Given the description of an element on the screen output the (x, y) to click on. 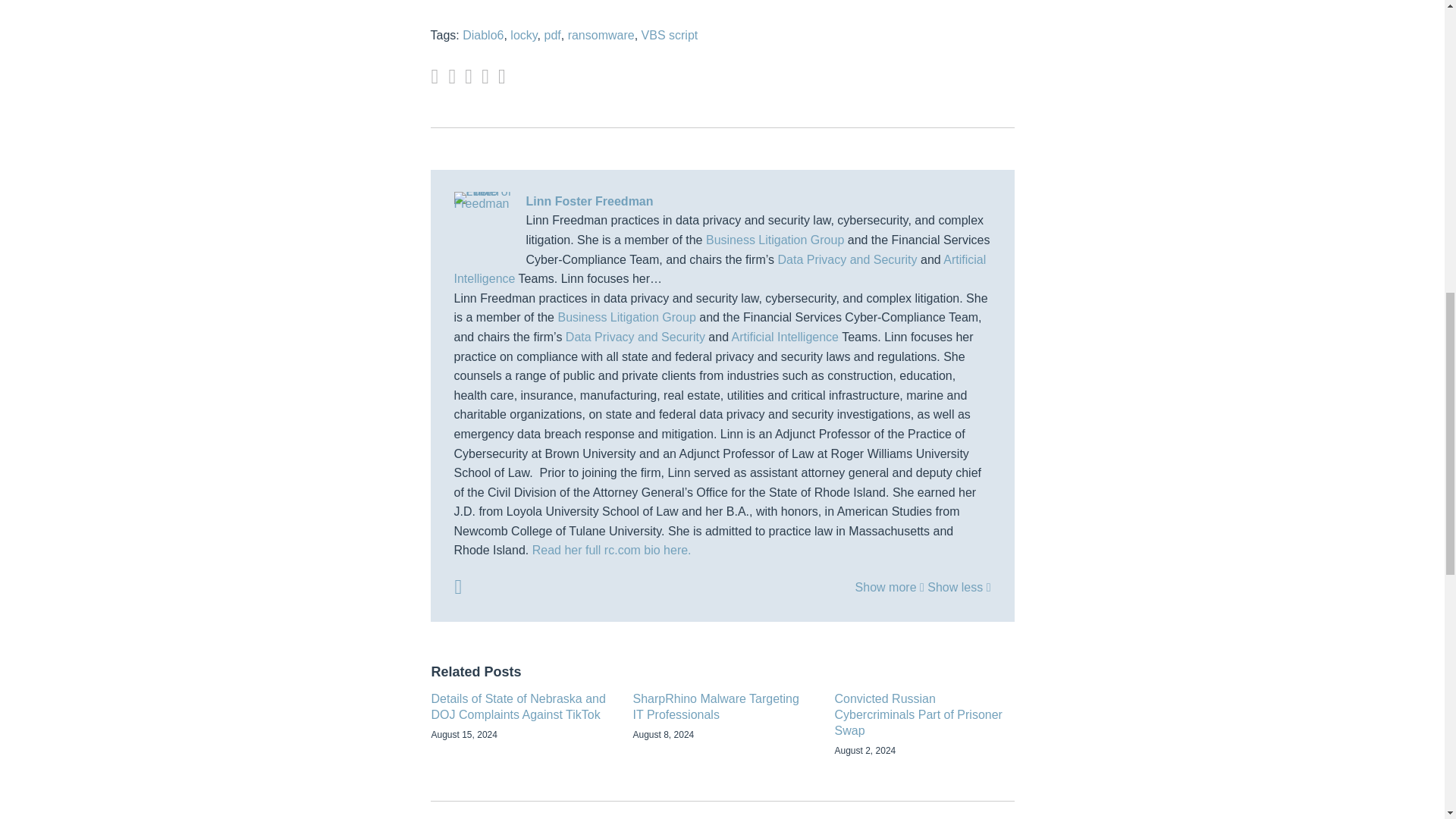
Business Litigation Group (775, 239)
VBS script (670, 34)
Diablo6 (483, 34)
Artificial Intelligence (718, 269)
Show less (958, 586)
locky (524, 34)
Read her full rc.com bio here. (611, 549)
pdf (552, 34)
SharpRhino Malware Targeting IT Professionals (720, 707)
